Given the description of an element on the screen output the (x, y) to click on. 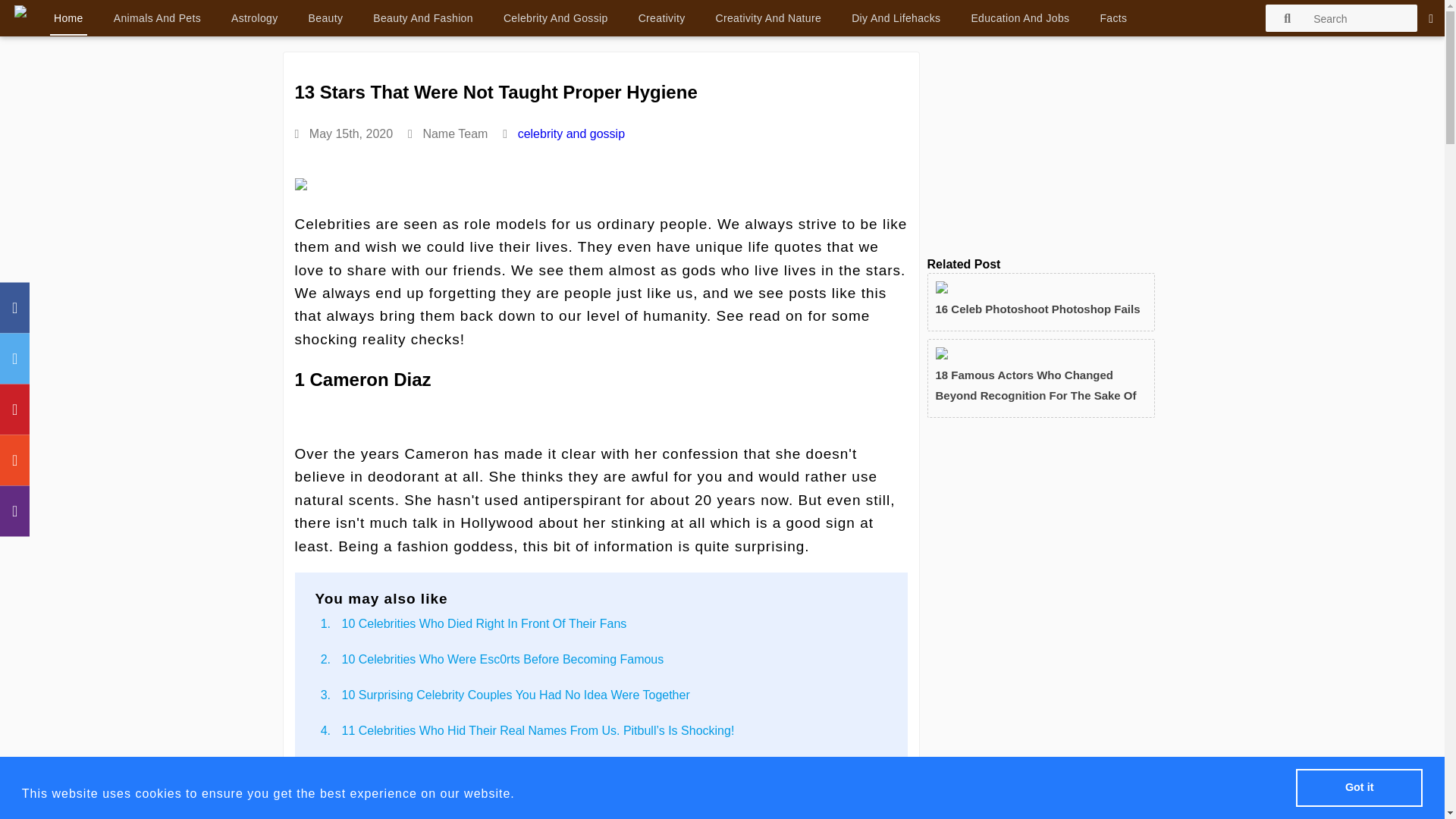
Astrology (254, 17)
Animals And Pets (157, 17)
Celebrity And Gossip (555, 17)
Creativity (661, 17)
Got it (1358, 788)
Beauty (325, 17)
Beauty And Fashion (423, 17)
Home (68, 18)
Creativity And Nature (768, 17)
